Given the description of an element on the screen output the (x, y) to click on. 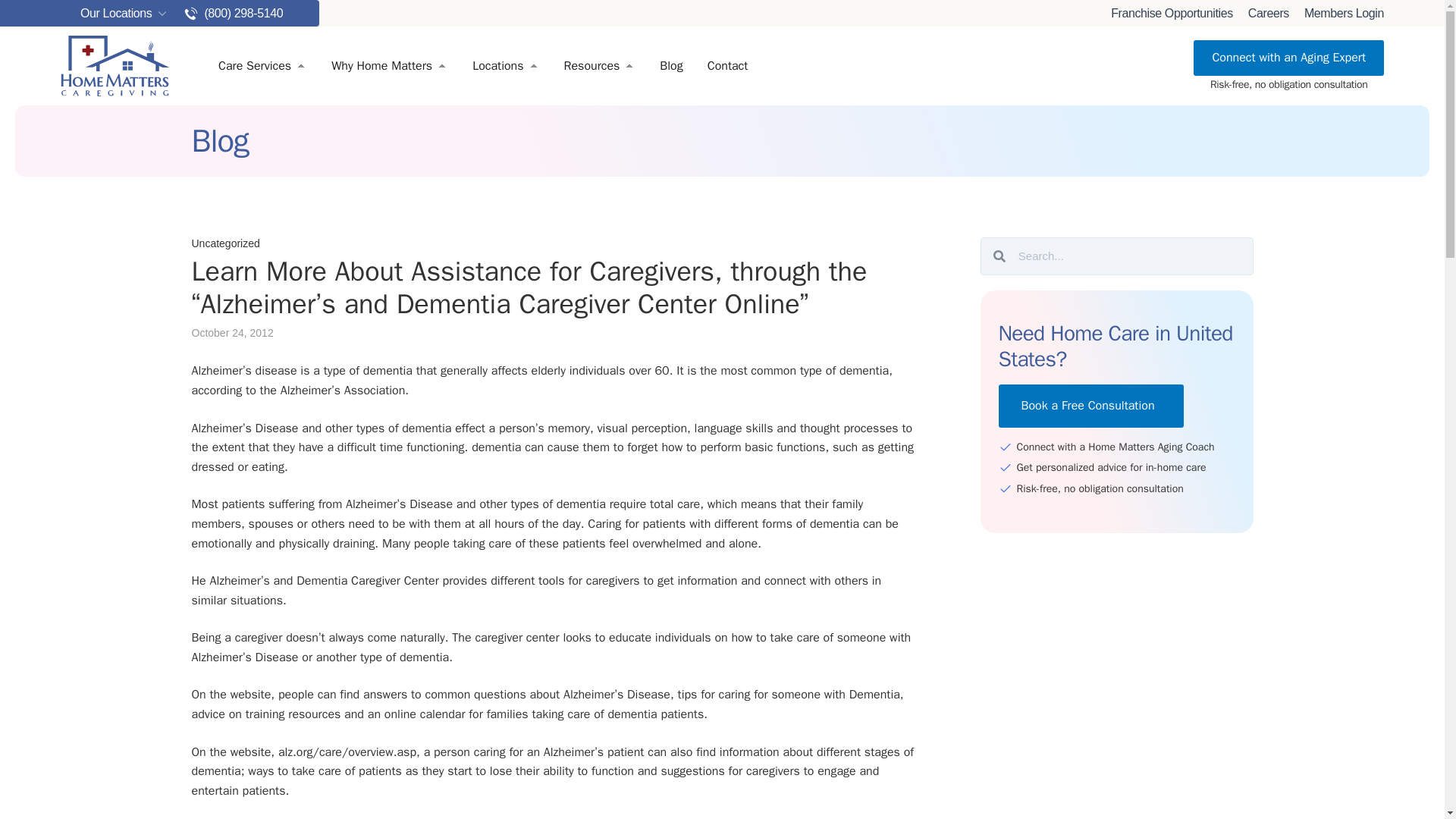
Franchise Opportunities (1171, 12)
Members Login (1344, 12)
Care Services (254, 65)
Careers (1267, 12)
Our Locations (106, 12)
